Given the description of an element on the screen output the (x, y) to click on. 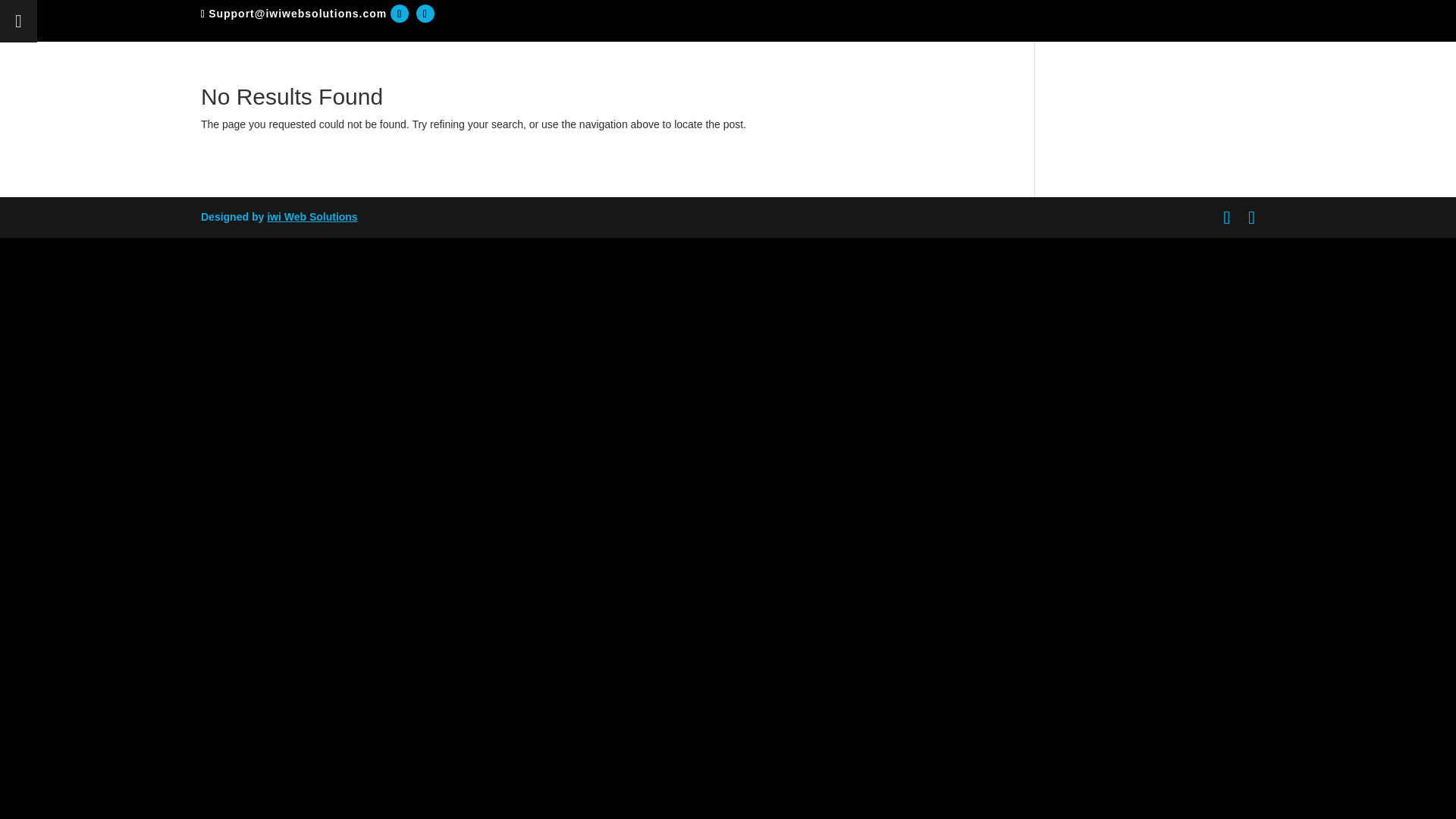
iwi Web Solutions (312, 216)
